Given the description of an element on the screen output the (x, y) to click on. 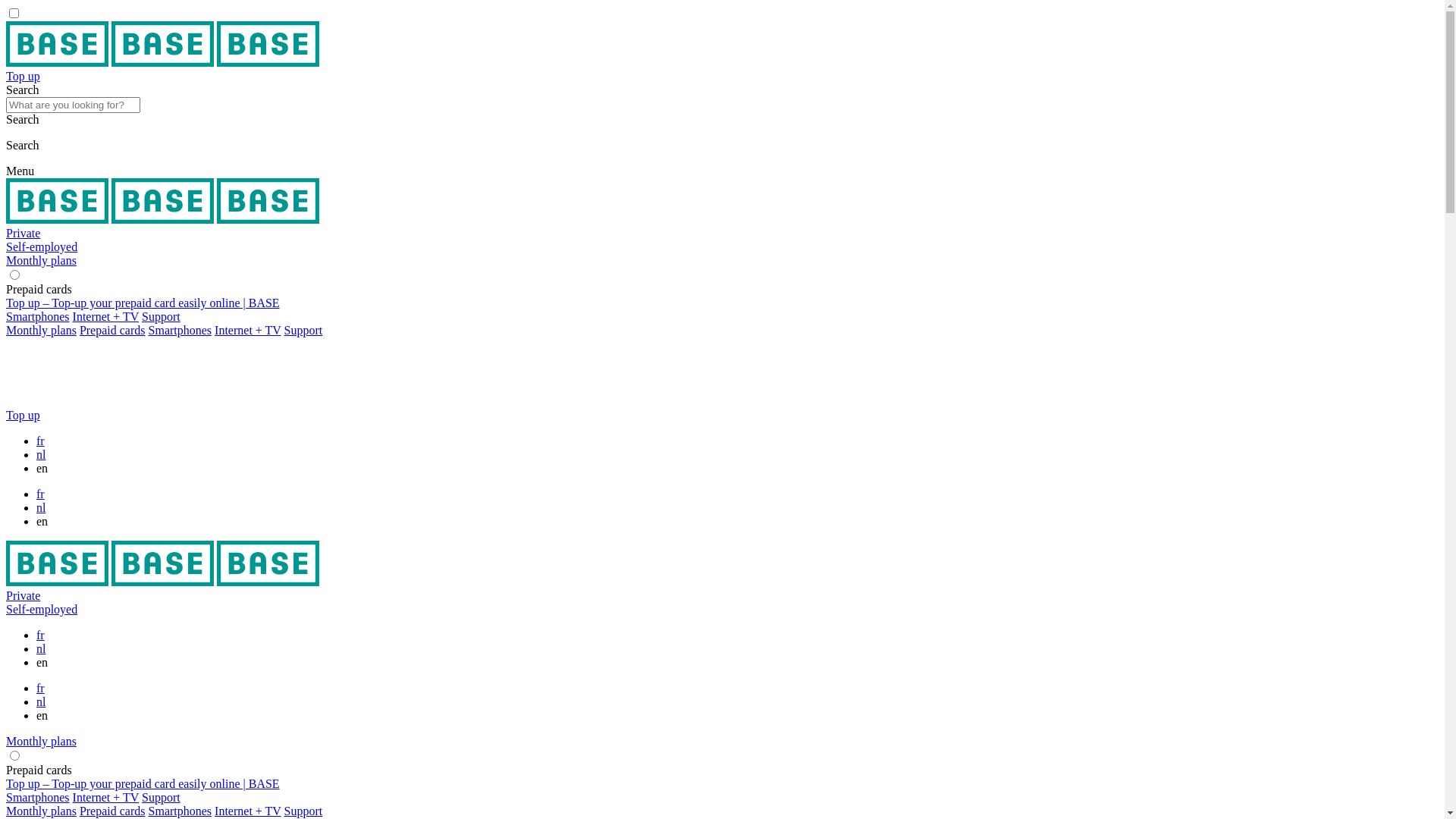
nl Element type: text (40, 648)
Internet + TV Element type: text (247, 329)
Self-employed Element type: text (41, 246)
Top up Element type: text (722, 415)
Internet + TV Element type: text (105, 316)
fr Element type: text (40, 440)
Prepaid cards Element type: text (112, 329)
Smartphones Element type: text (37, 316)
Monthly plans Element type: text (41, 740)
Monthly plans Element type: text (41, 810)
Smartphones Element type: text (37, 796)
Support Element type: text (303, 810)
fr Element type: text (40, 687)
Search Element type: text (722, 96)
fr Element type: text (40, 493)
Private Element type: text (23, 232)
Private Element type: text (23, 595)
Support Element type: text (160, 796)
fr Element type: text (40, 634)
Self-employed Element type: text (41, 608)
Smartphones Element type: text (180, 329)
Top up Element type: text (722, 76)
Monthly plans Element type: text (41, 260)
Internet + TV Element type: text (247, 810)
nl Element type: text (40, 454)
nl Element type: text (40, 701)
Smartphones Element type: text (180, 810)
Prepaid cards Element type: text (112, 810)
Monthly plans Element type: text (41, 329)
Support Element type: text (160, 316)
Support Element type: text (303, 329)
nl Element type: text (40, 507)
Internet + TV Element type: text (105, 796)
